Given the description of an element on the screen output the (x, y) to click on. 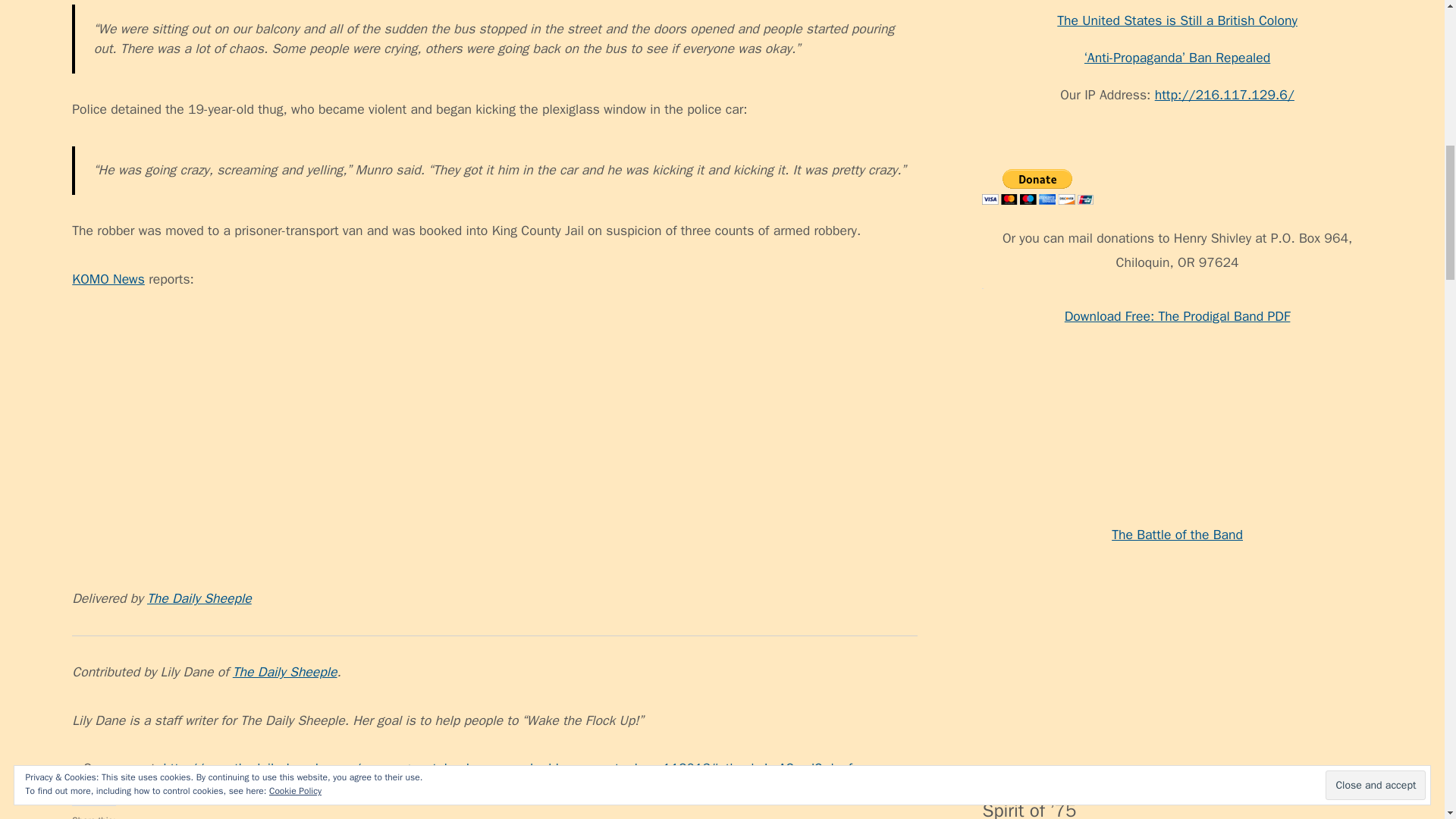
porno (997, 515)
The Daily Sheeple (284, 671)
The Daily Sheeple (199, 597)
KOMO News (107, 279)
